Given the description of an element on the screen output the (x, y) to click on. 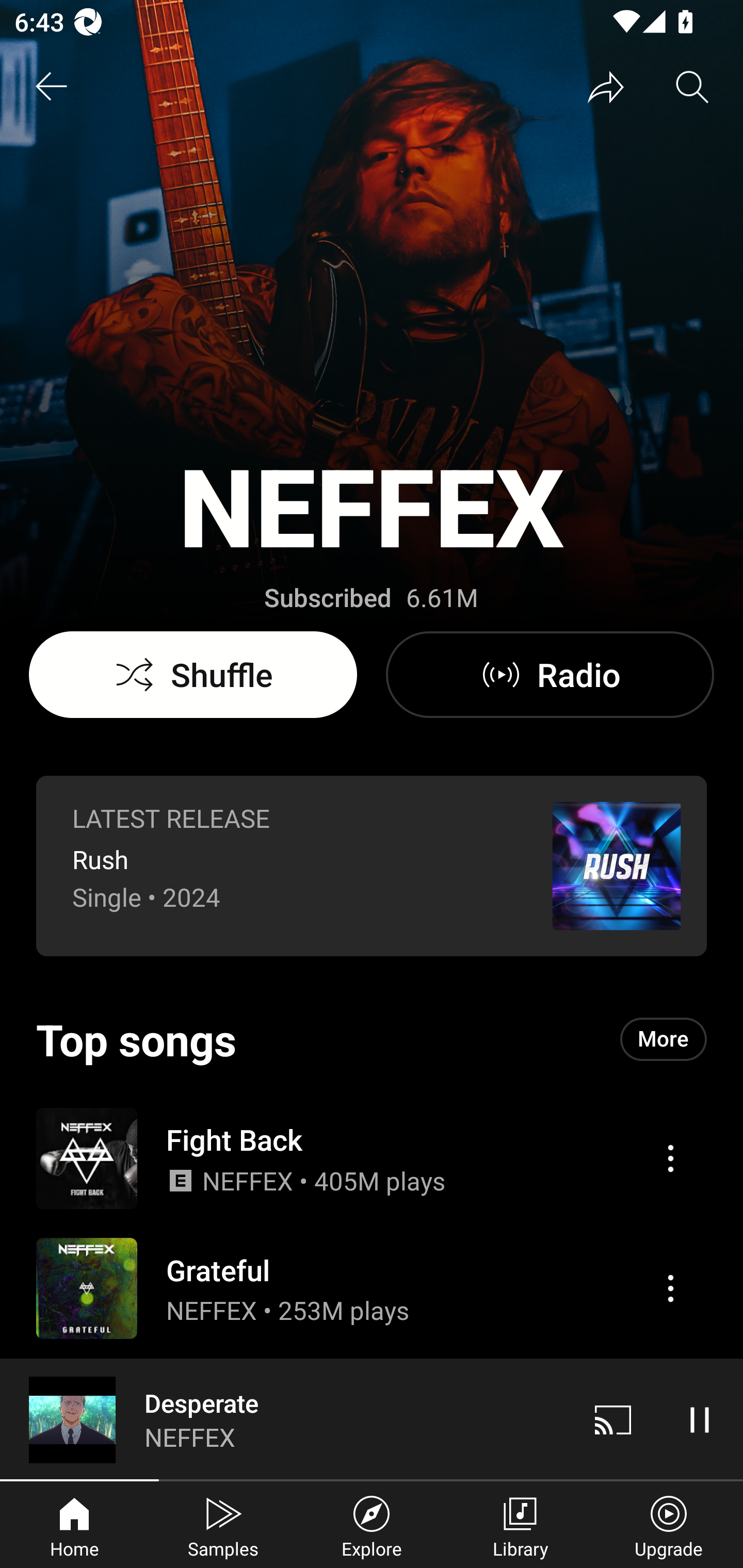
Back (50, 86)
Share (605, 86)
Search (692, 86)
Subscribed 6.61M (371, 598)
Shuffle (192, 674)
Radio (549, 674)
Action menu (371, 1157)
Action menu (670, 1158)
Action menu (371, 1288)
Action menu (670, 1288)
Desperate NEFFEX (284, 1419)
Cast. Disconnected (612, 1419)
Pause video (699, 1419)
Home (74, 1524)
Samples (222, 1524)
Explore (371, 1524)
Library (519, 1524)
Upgrade (668, 1524)
